Given the description of an element on the screen output the (x, y) to click on. 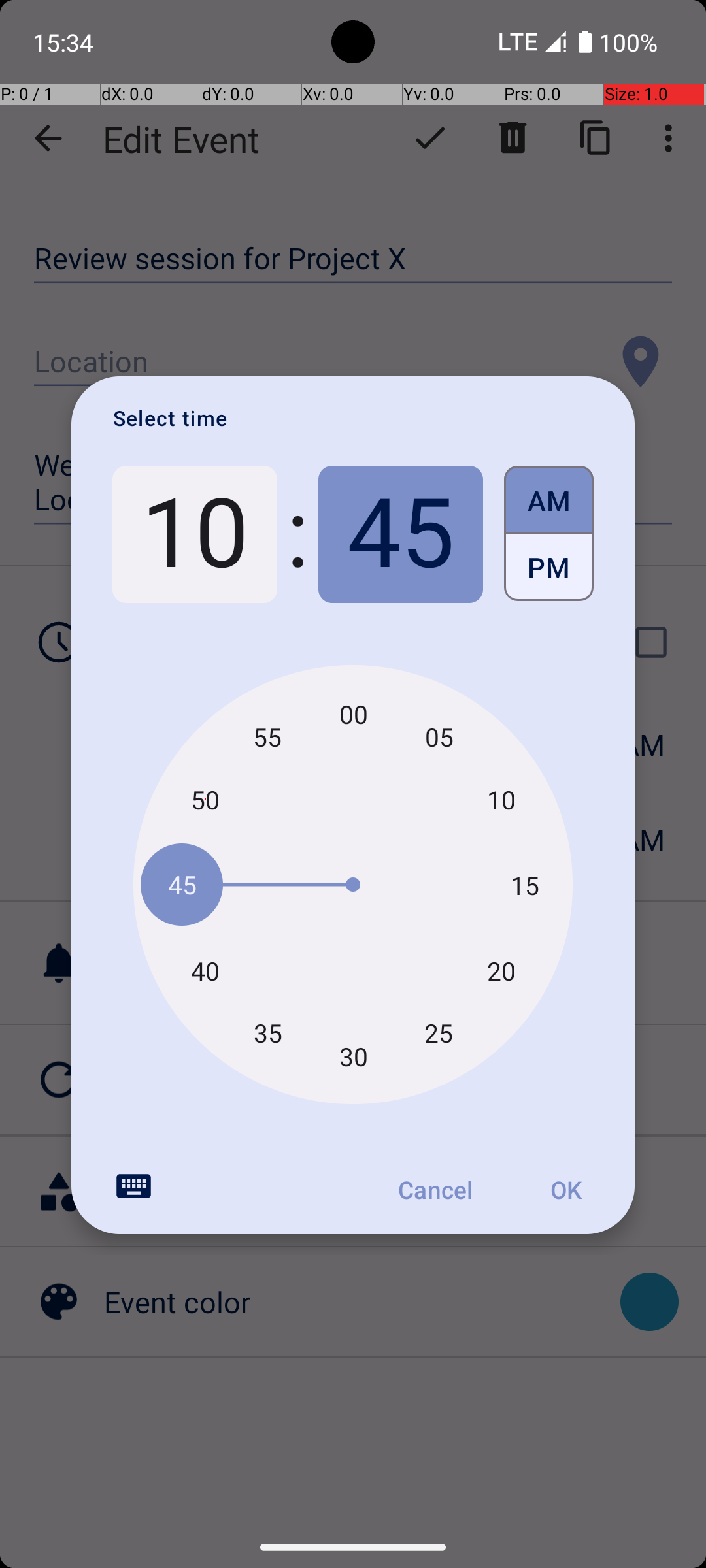
Select AM or PM Element type: android.widget.LinearLayout (548, 534)
